Given the description of an element on the screen output the (x, y) to click on. 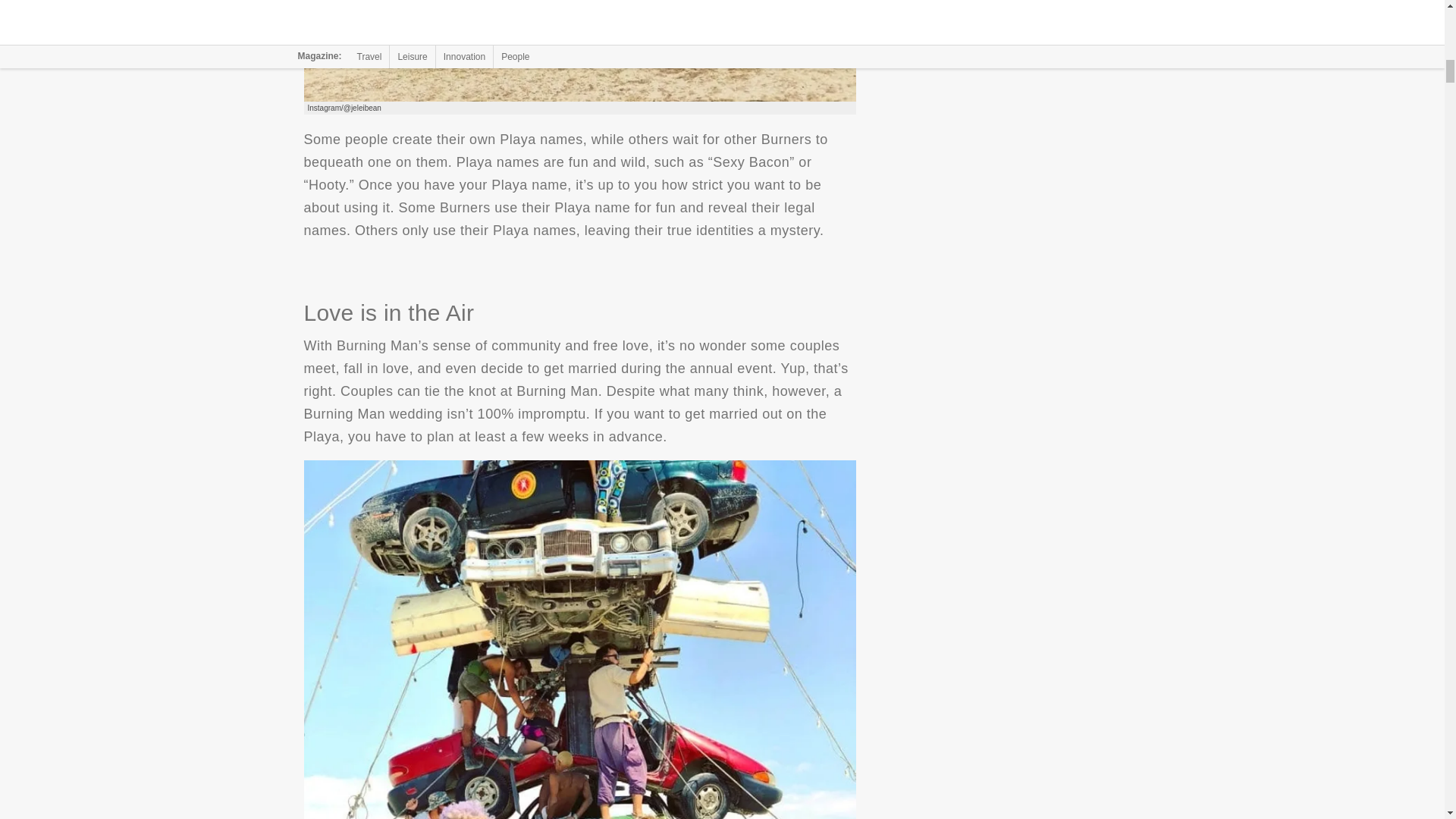
Reborn on the Playa (579, 50)
